Given the description of an element on the screen output the (x, y) to click on. 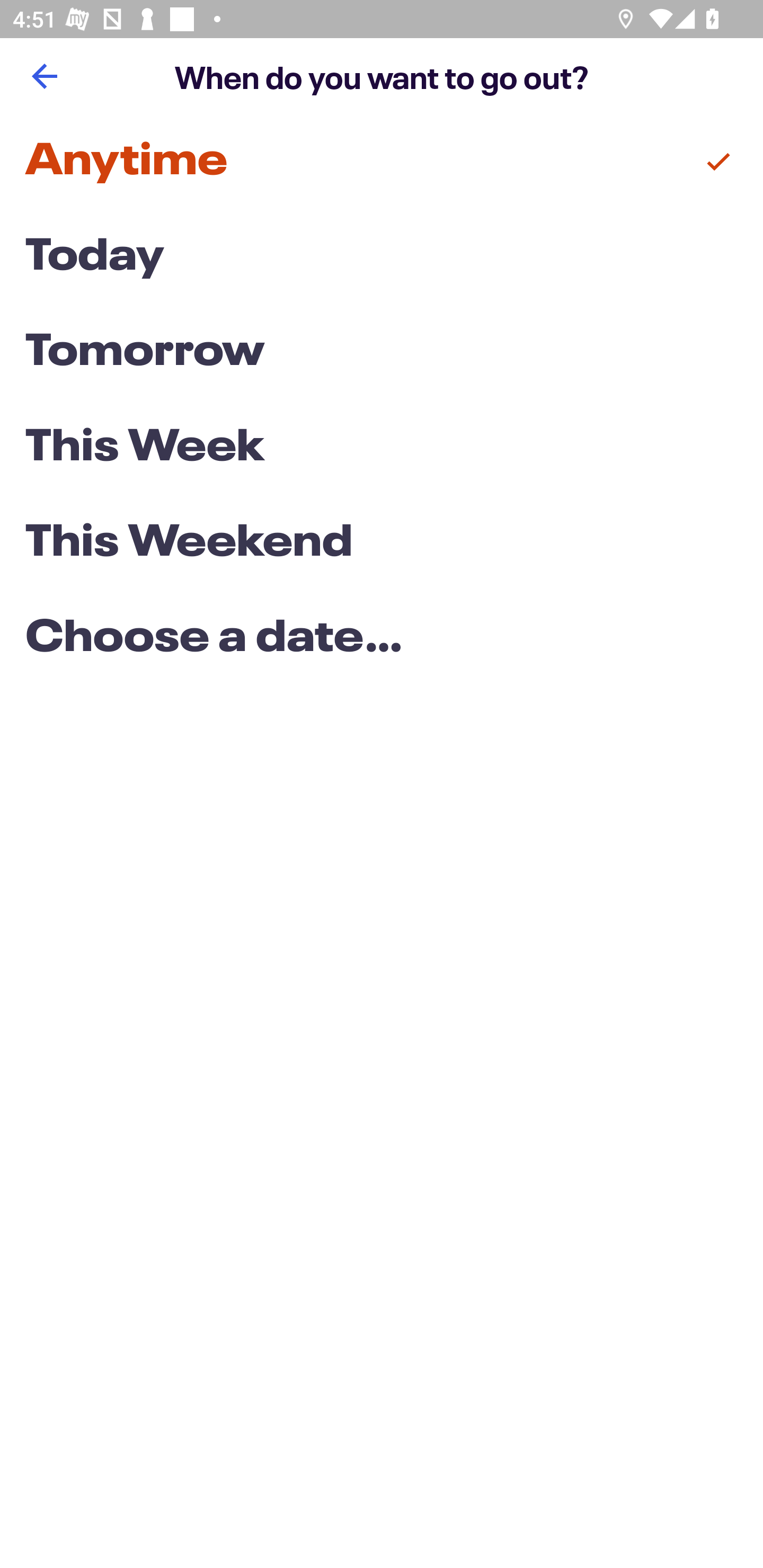
Back button (44, 75)
Anytime (381, 161)
Today (381, 257)
Tomorrow (381, 352)
This Week (381, 447)
This Weekend (381, 542)
Choose a date… (381, 638)
